Given the description of an element on the screen output the (x, y) to click on. 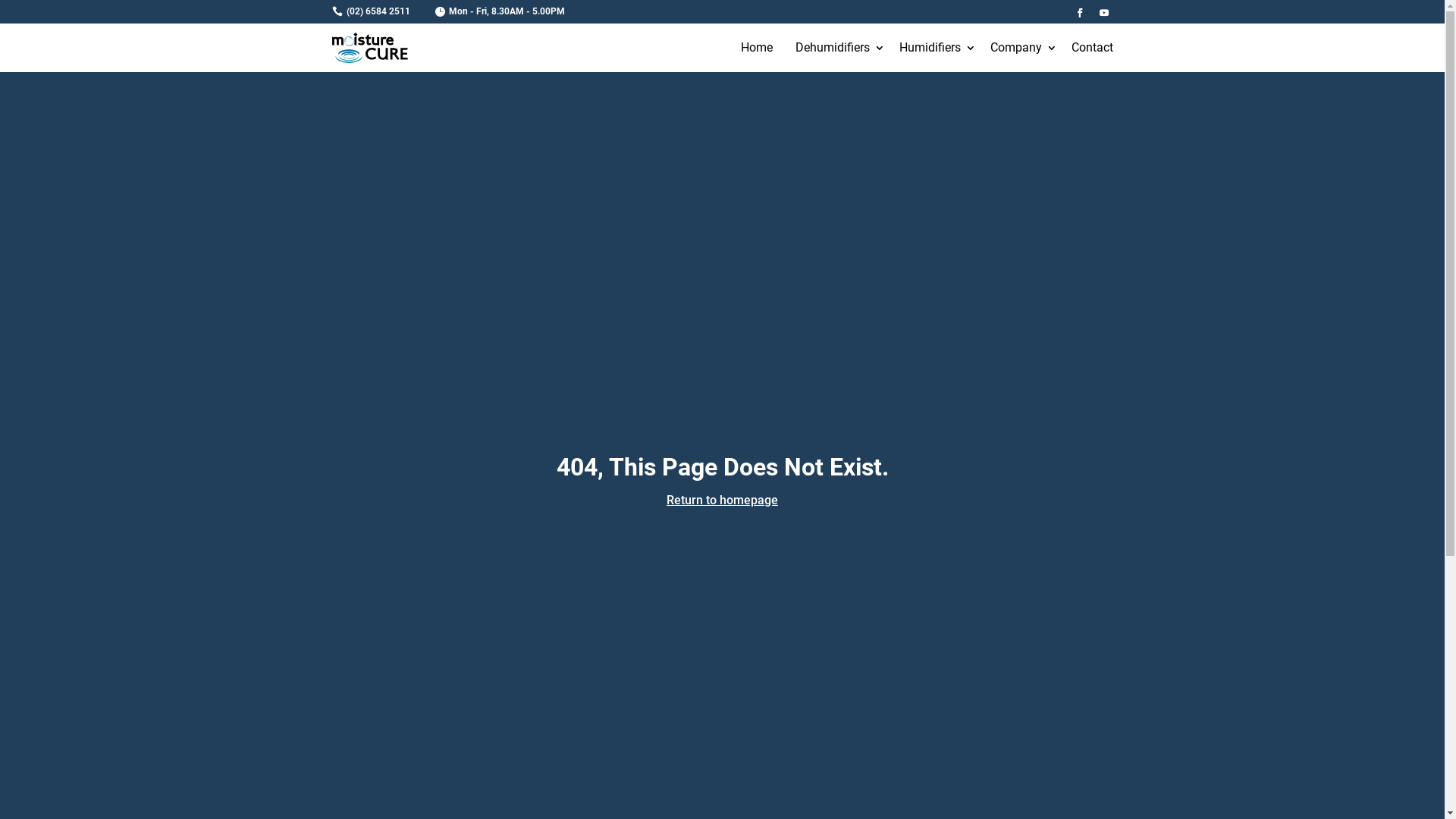
Home Element type: text (756, 47)
Contact Element type: text (1092, 47)
Follow on Youtube Element type: hover (1104, 12)
Humidifiers Element type: text (932, 47)
Follow on Facebook Element type: hover (1079, 12)
Company Element type: text (1018, 47)
Dehumidifiers Element type: text (835, 47)
Return to homepage Element type: text (722, 499)
